Given the description of an element on the screen output the (x, y) to click on. 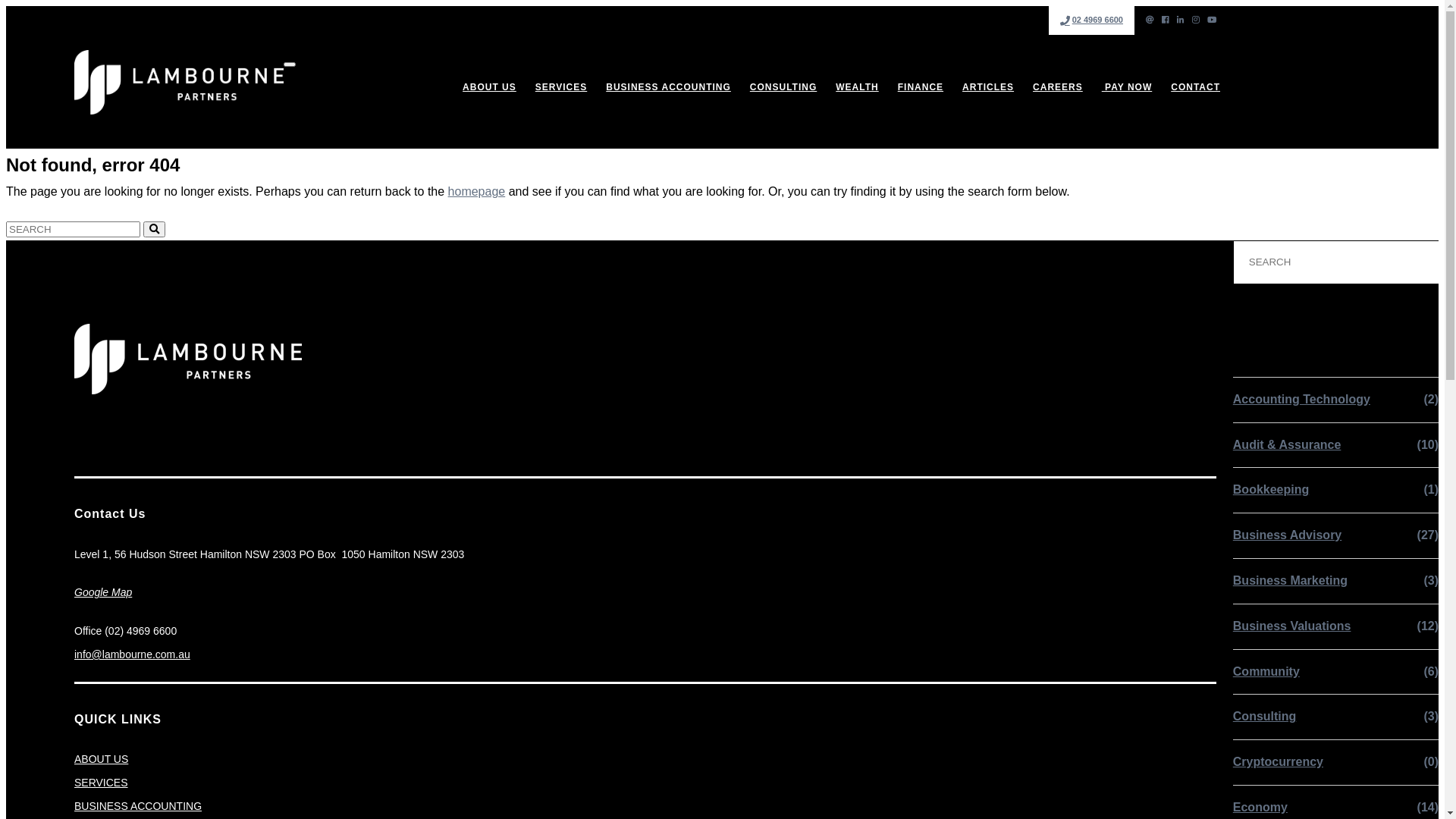
CAREERS Element type: text (1057, 88)
Community Element type: text (1266, 672)
ABOUT US Element type: text (101, 759)
SERVICES Element type: text (560, 88)
BUSINESS ACCOUNTING Element type: text (668, 88)
SERVICES Element type: text (101, 782)
Bookkeeping Element type: text (1270, 490)
Business Marketing Element type: text (1290, 581)
Google Map Element type: text (102, 592)
FINANCE Element type: text (920, 88)
Cryptocurrency Element type: text (1278, 762)
ABOUT US Element type: text (489, 88)
homepage Element type: text (476, 191)
Consulting Element type: text (1264, 717)
CONTACT Element type: text (1195, 88)
Accounting Technology Element type: text (1301, 400)
ARTICLES Element type: text (987, 88)
Audit & Assurance Element type: text (1287, 445)
info@lambourne.com.au Element type: text (132, 654)
02 4969 6600 Element type: text (1091, 20)
Business Advisory Element type: text (1287, 535)
WEALTH Element type: text (856, 88)
Business Valuations Element type: text (1292, 626)
CONSULTING Element type: text (783, 88)
PAY NOW Element type: text (1126, 88)
BUSINESS ACCOUNTING Element type: text (137, 806)
